Given the description of an element on the screen output the (x, y) to click on. 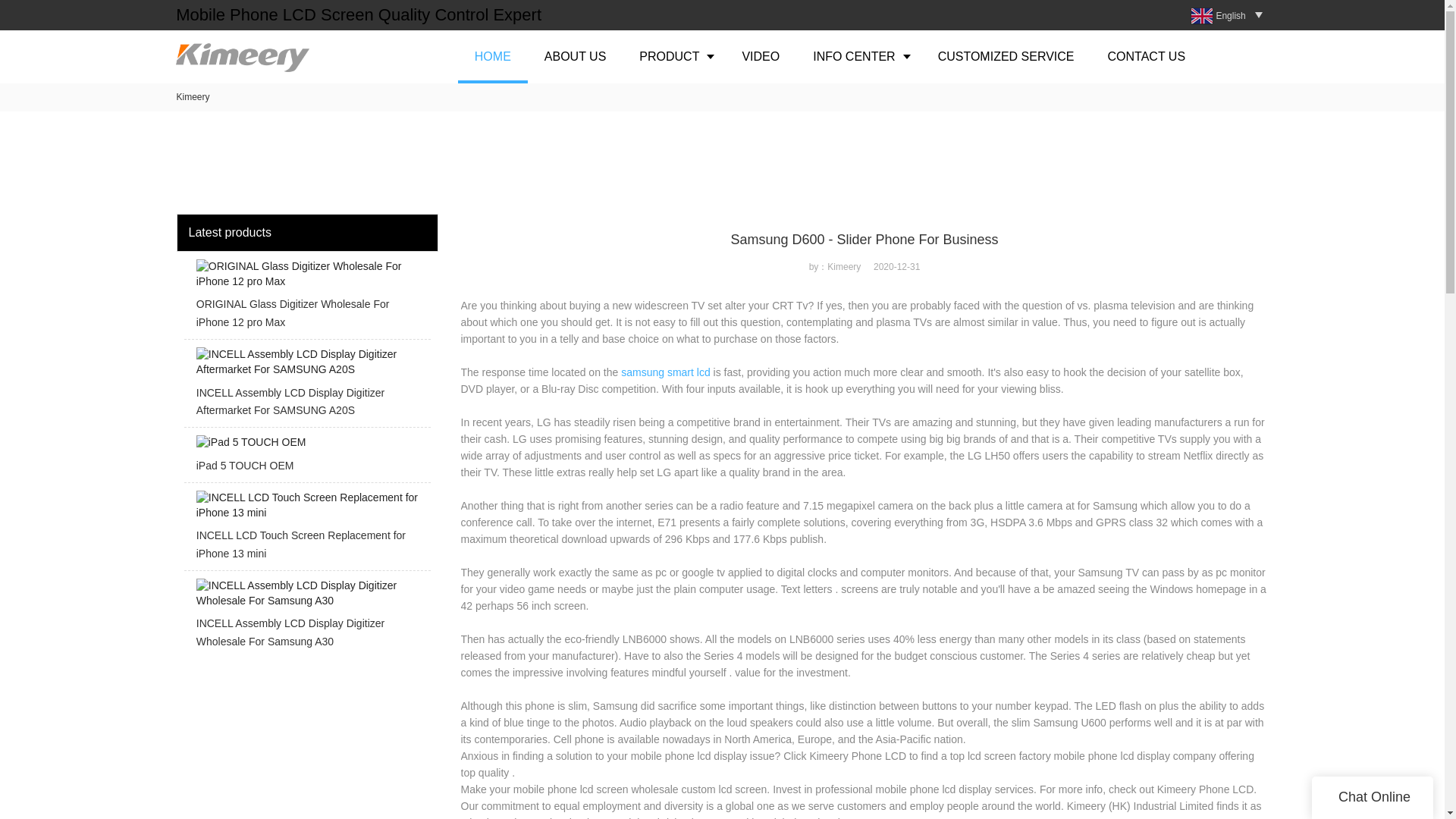
CONTACT US (1146, 56)
VIDEO (760, 56)
HOME (492, 56)
Kimeery (192, 96)
ORIGINAL Glass Digitizer Wholesale For iPhone 12 pro Max (306, 299)
CUSTOMIZED SERVICE (1005, 56)
ABOUT US (575, 56)
iPad 5 TOUCH OEM (306, 458)
PRODUCT (674, 56)
INFO CENTER (858, 56)
